Given the description of an element on the screen output the (x, y) to click on. 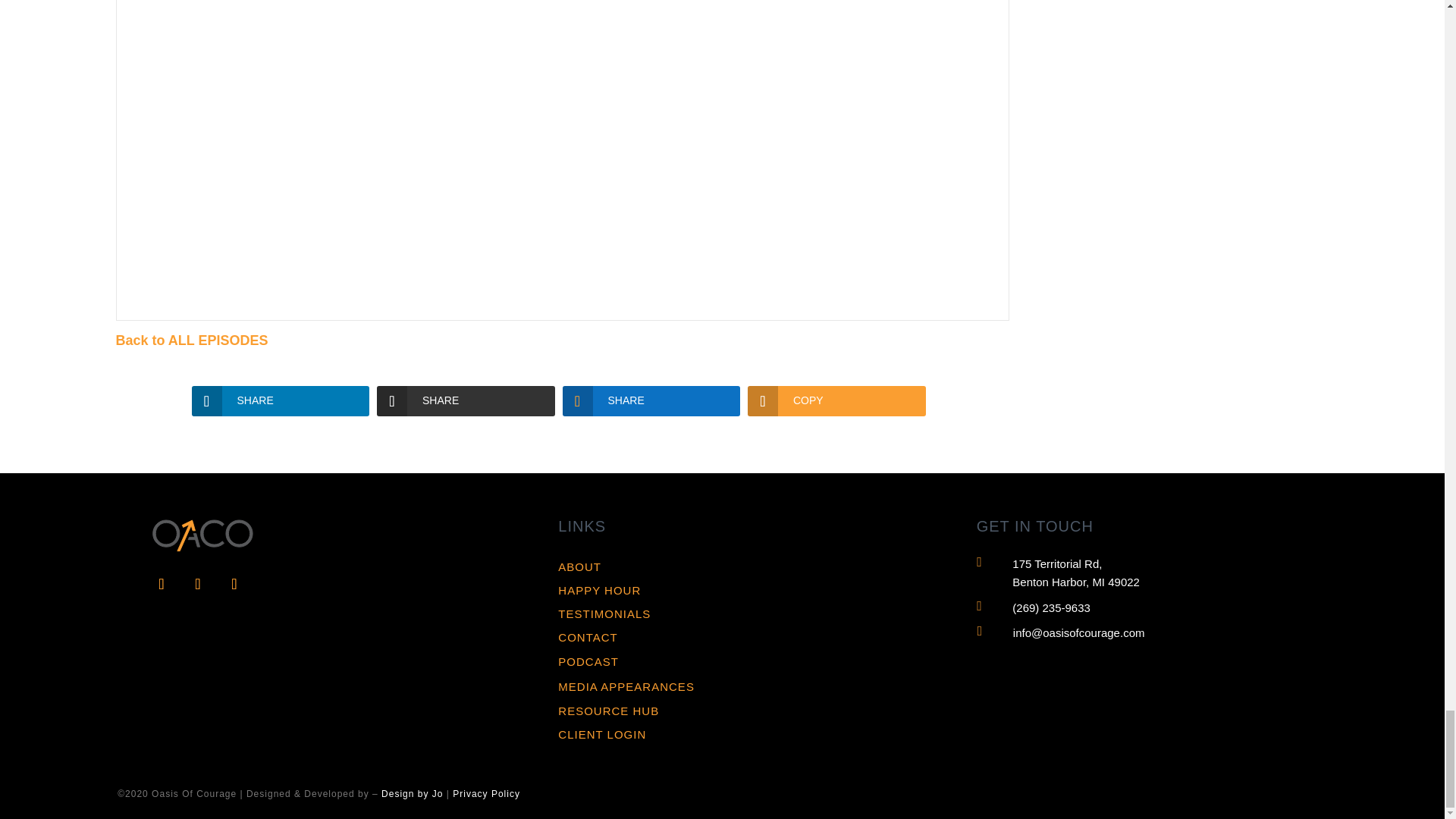
HAPPY HOUR (598, 590)
Testimonials Page (603, 613)
About Page (579, 566)
Follow on Facebook (161, 583)
Contact Page (587, 636)
Follow on LinkedIn (197, 583)
PODCAST (587, 661)
CONTACT (587, 636)
Back to ALL EPISODES (191, 340)
TESTIMONIALS (603, 613)
SHARE (465, 400)
Follow on Instagram (233, 583)
SHARE (279, 400)
OACO Website Header-19 (200, 531)
MEDIA APPEARANCES (625, 686)
